Given the description of an element on the screen output the (x, y) to click on. 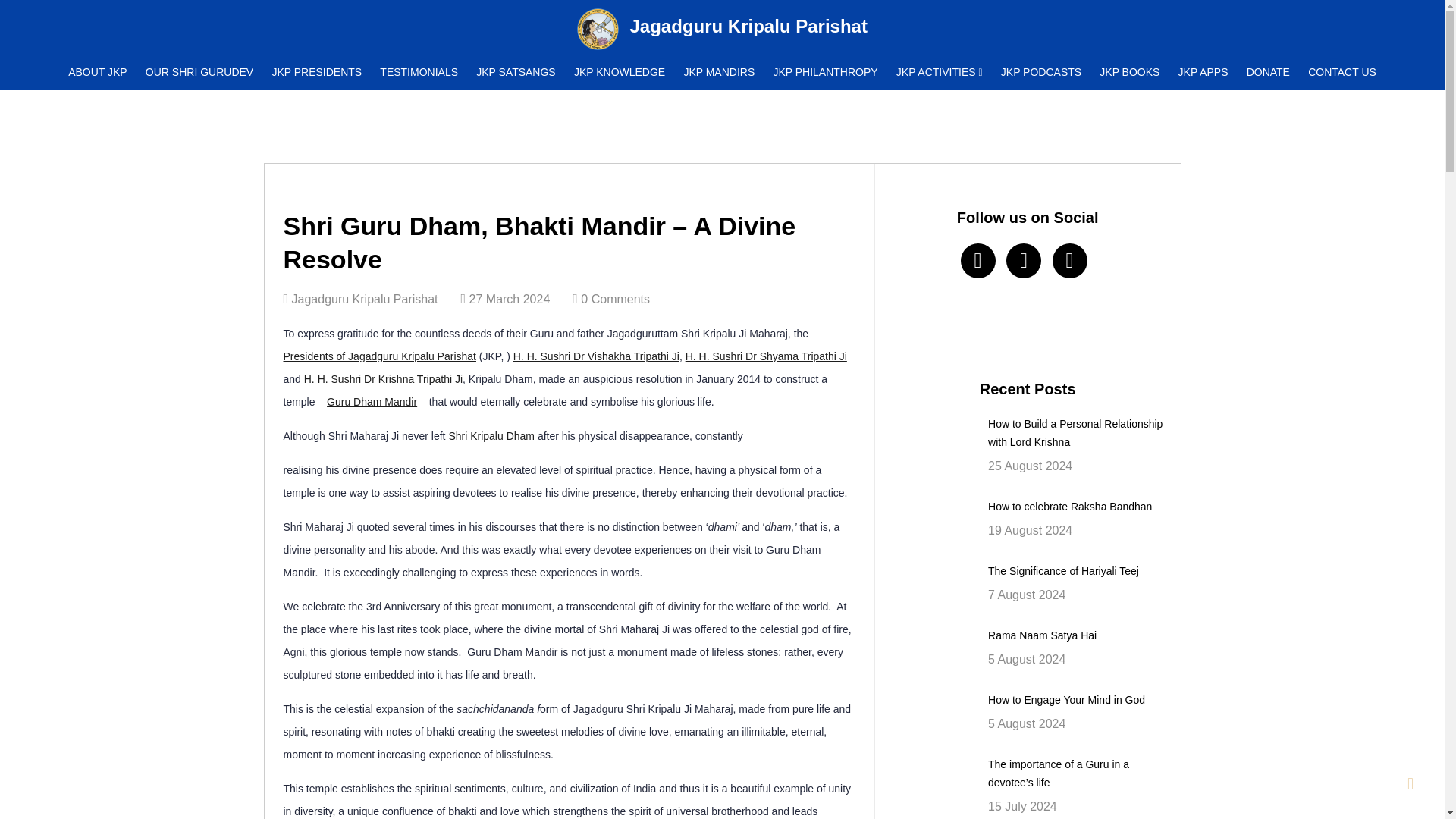
OUR SHRI GURUDEV (199, 72)
Guru Dham Mandir (371, 401)
ABOUT JKP (98, 72)
TESTIMONIALS (418, 72)
Jagadguru Kripalu Parishat (748, 26)
Presidents of Jagadguru Kripalu Parishat (379, 356)
JKP BOOKS (1129, 72)
JKP MANDIRS (718, 72)
H. H. Sushri Dr Krishna Tripathi Ji (383, 378)
JKP PODCASTS (1040, 72)
